Given the description of an element on the screen output the (x, y) to click on. 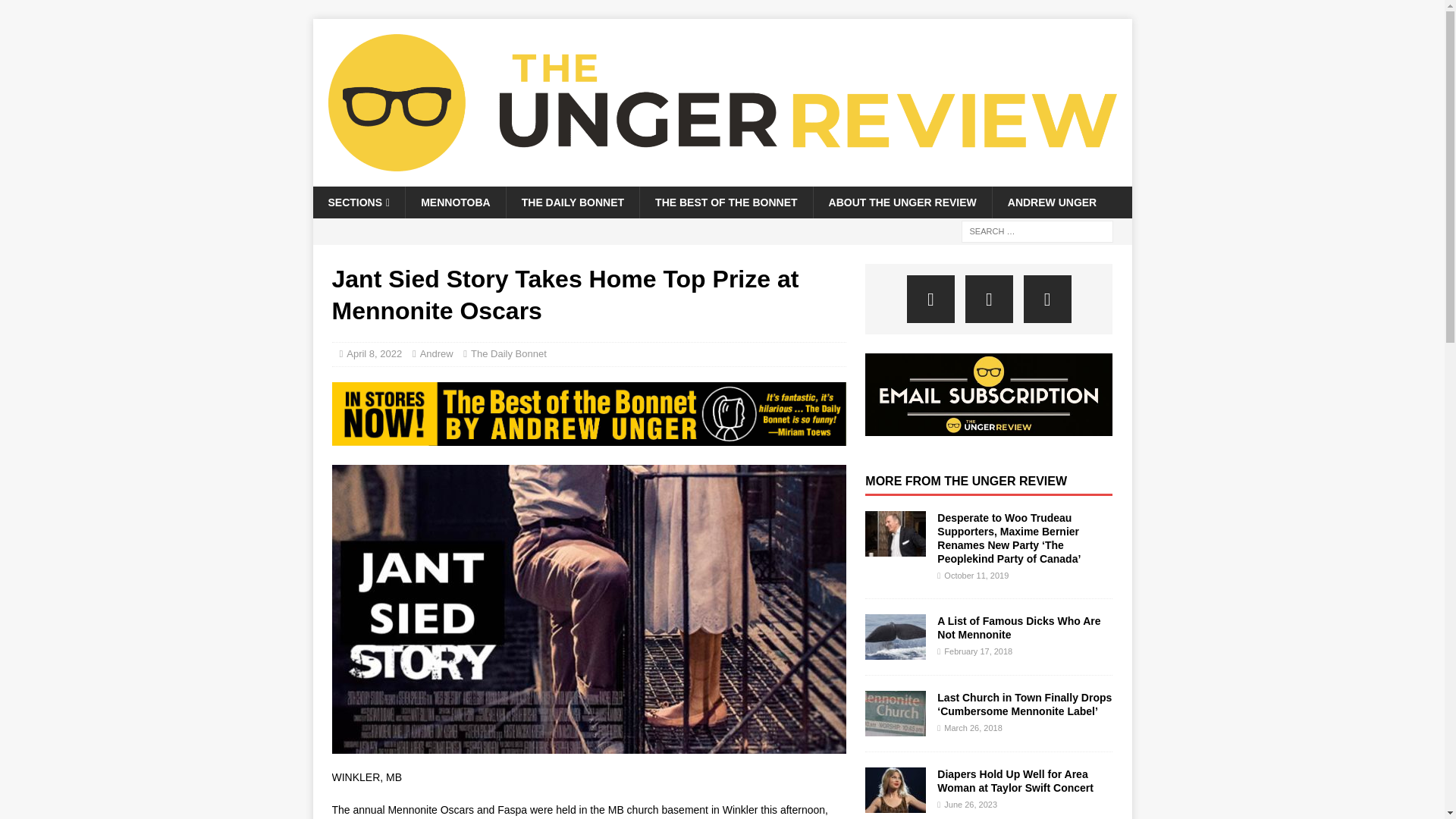
MENNOTOBA (454, 202)
April 8, 2022 (373, 353)
THE BEST OF THE BONNET (725, 202)
ABOUT THE UNGER REVIEW (901, 202)
The Daily Bonnet (508, 353)
ANDREW UNGER (1051, 202)
Search (56, 11)
Andrew (436, 353)
THE DAILY BONNET (572, 202)
